Given the description of an element on the screen output the (x, y) to click on. 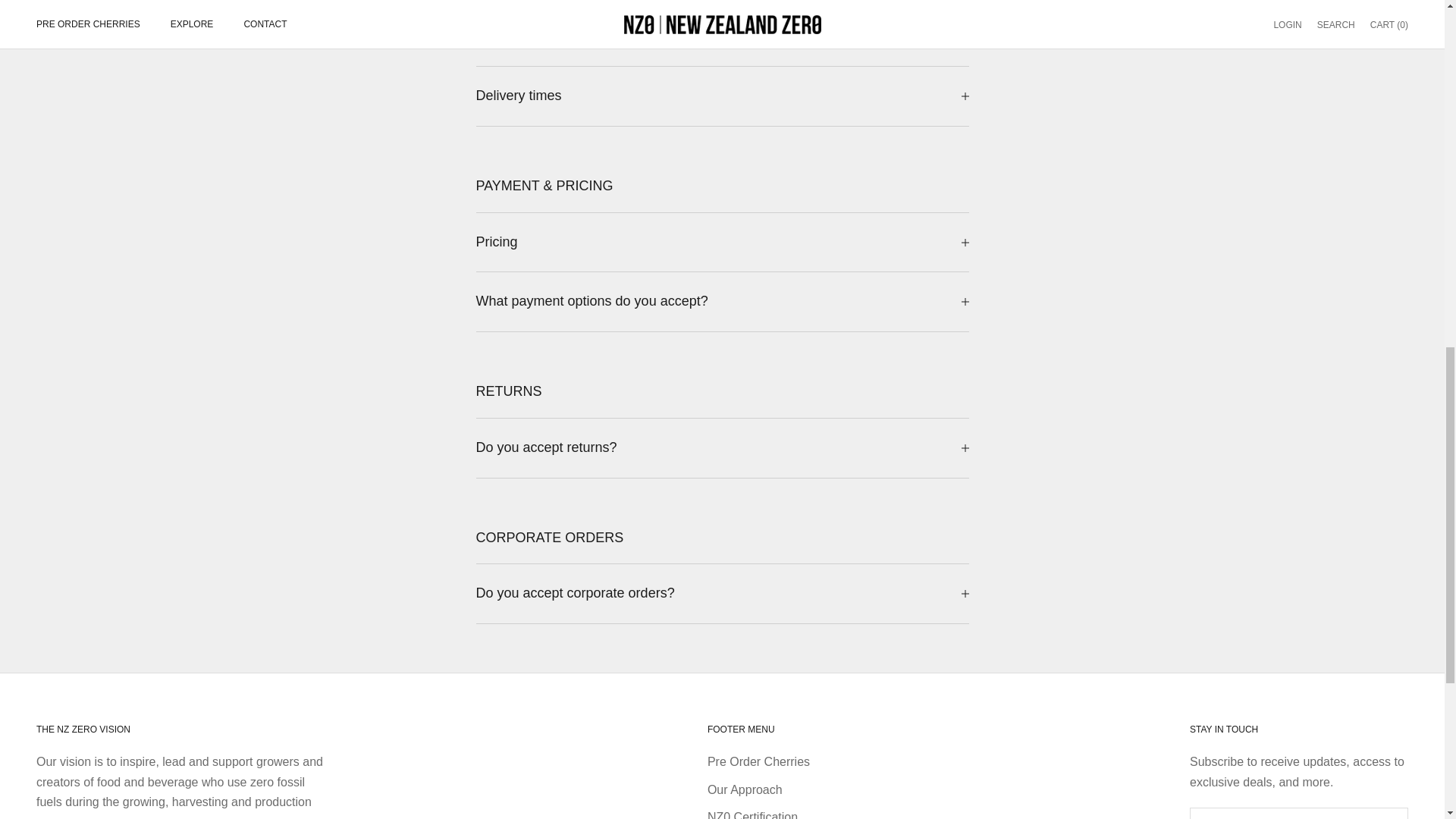
NZ0 Certification (752, 814)
Our Approach (745, 789)
Pre Order Cherries (758, 761)
